Given the description of an element on the screen output the (x, y) to click on. 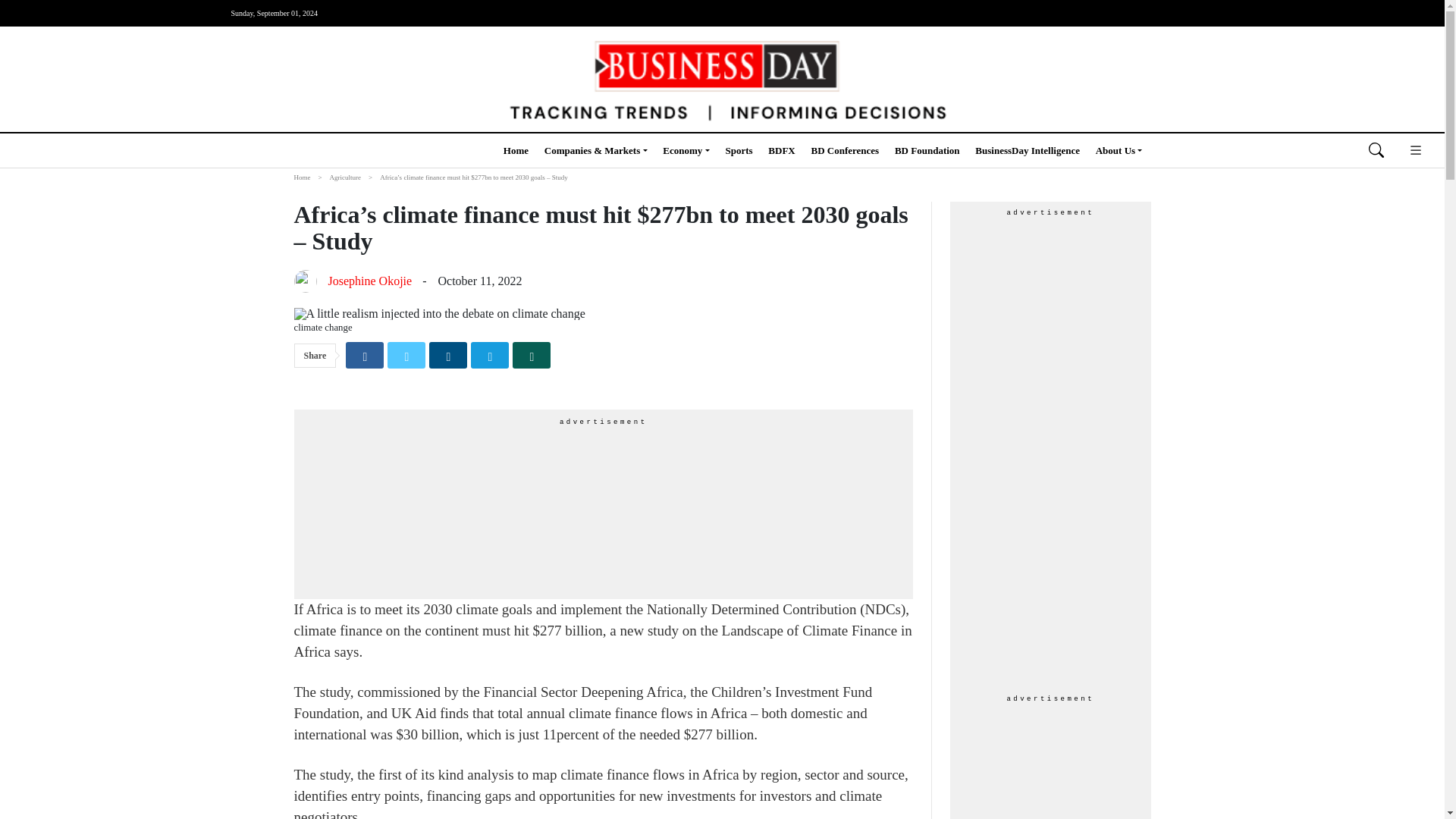
About Us (1119, 149)
About Us (1119, 149)
Economy (685, 149)
Economy (685, 149)
BD Foundation (927, 149)
BD Conferences (844, 149)
BD Conferences (844, 149)
BusinessDay Intelligence (1027, 149)
BusinessDay Intelligence (1027, 149)
BD Foundation (927, 149)
